Given the description of an element on the screen output the (x, y) to click on. 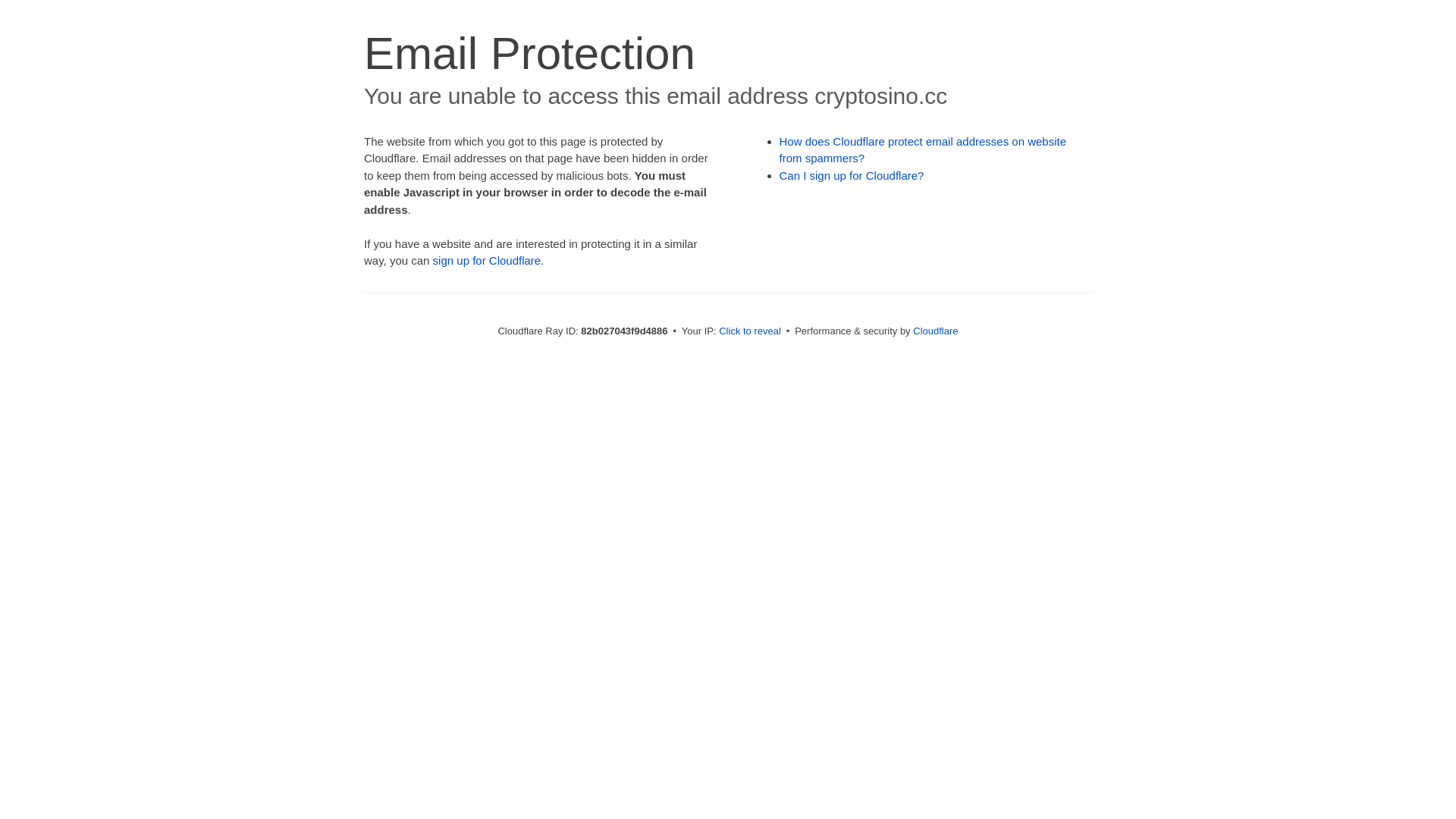
sign up for Cloudflare Element type: text (487, 260)
Cloudflare Element type: text (935, 330)
Can I sign up for Cloudflare? Element type: text (851, 175)
Click to reveal Element type: text (749, 330)
